Given the description of an element on the screen output the (x, y) to click on. 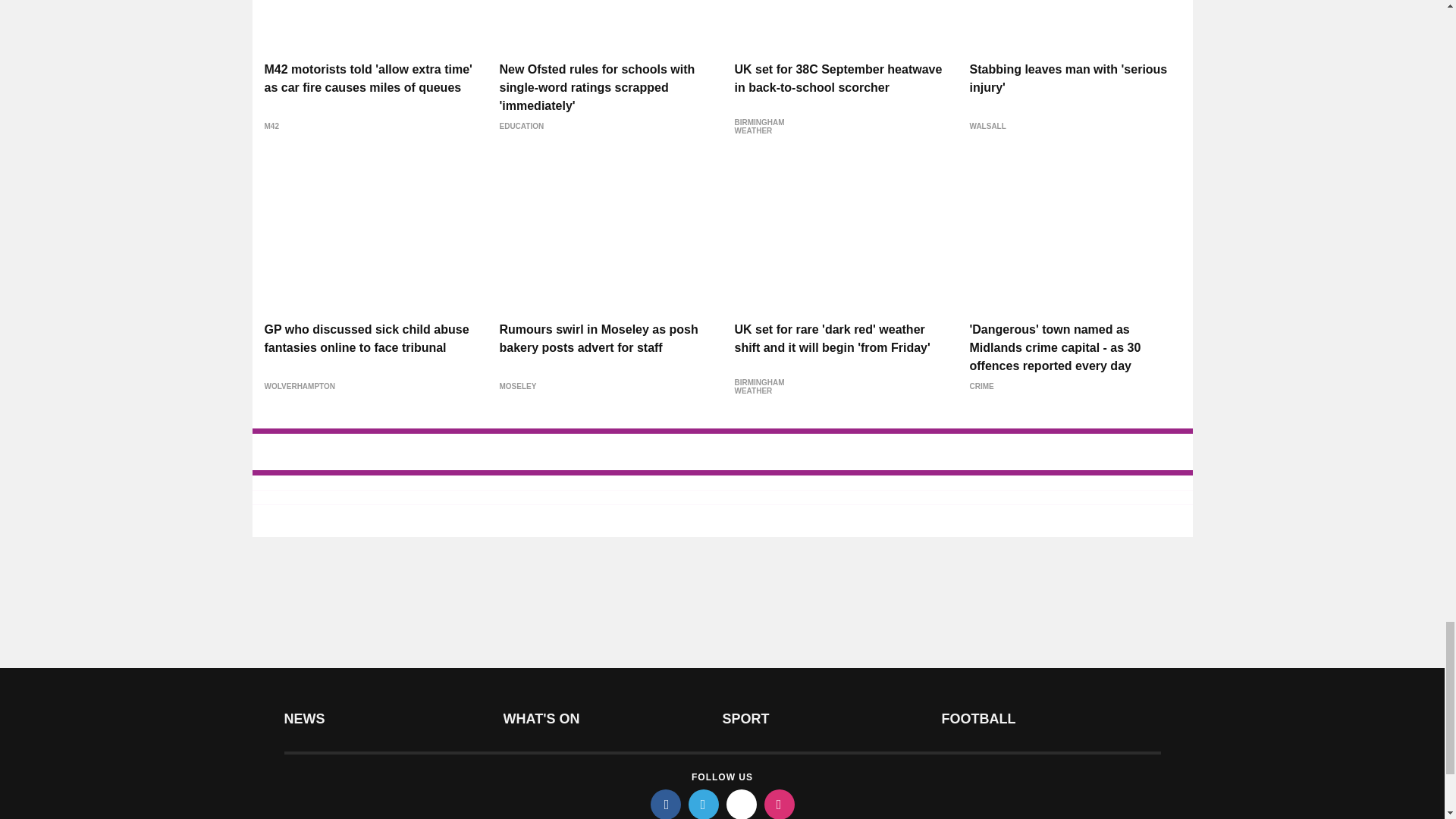
tiktok (741, 804)
facebook (665, 804)
twitter (703, 804)
instagram (779, 804)
